Given the description of an element on the screen output the (x, y) to click on. 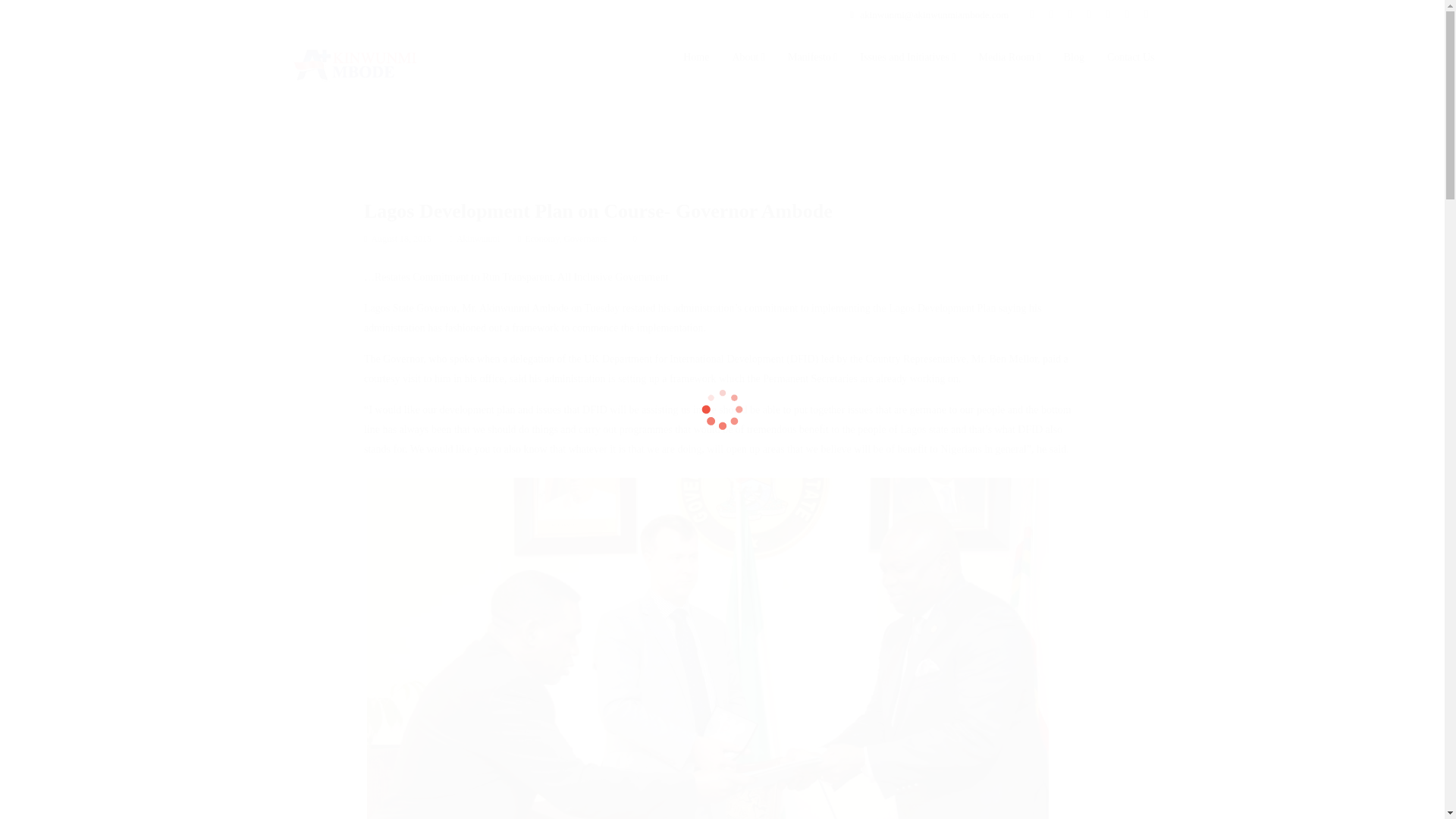
About (748, 57)
Home (695, 57)
Akinwunmi Ambode (354, 61)
Manifesto (812, 57)
Issues and Initiatives (907, 57)
About (748, 57)
Contact Us (1130, 57)
Issues and Initiatives (907, 57)
Home (695, 57)
Manifesto (812, 57)
Media Room (1009, 57)
